Given the description of an element on the screen output the (x, y) to click on. 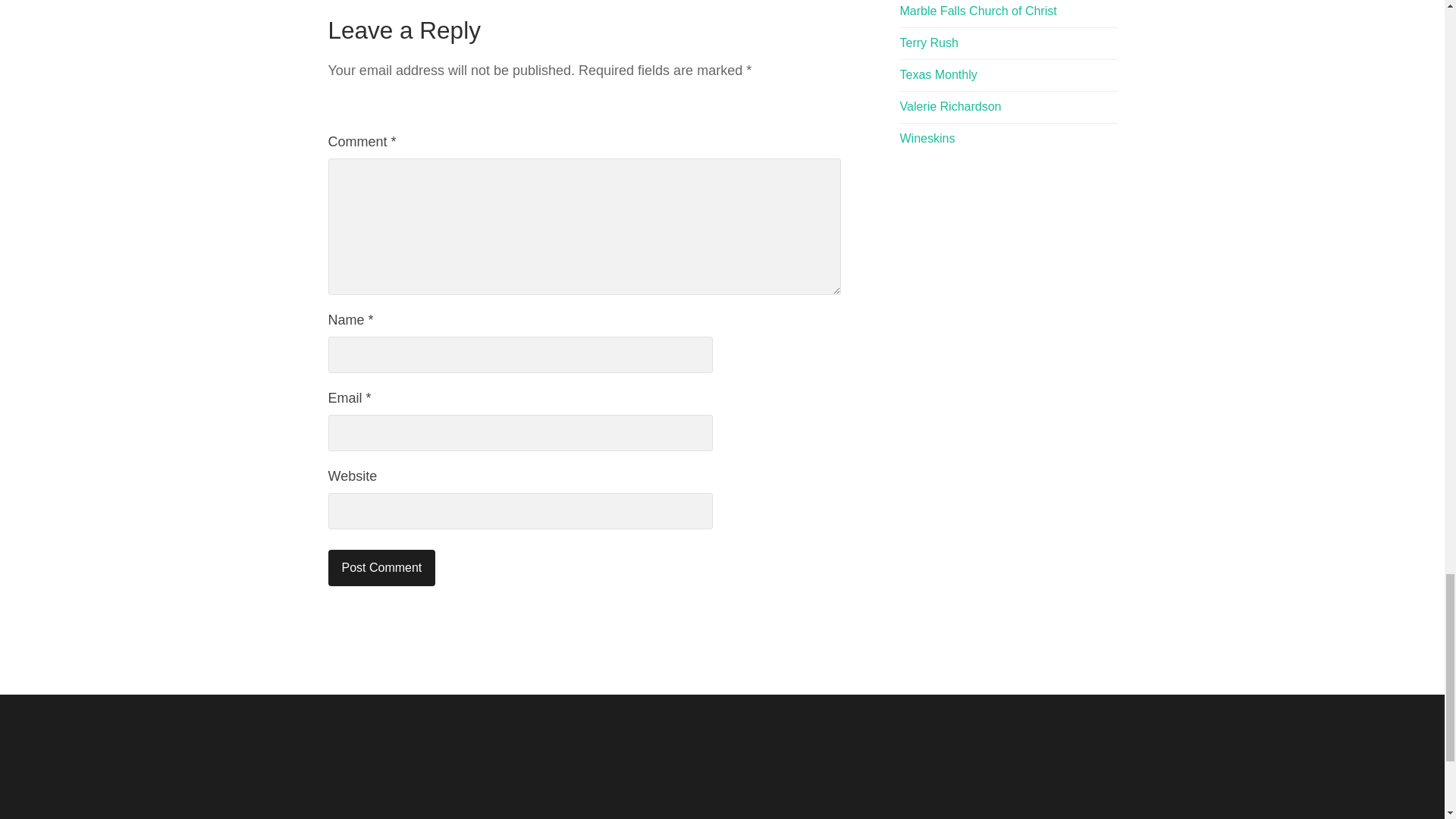
Marble Falls Church of Christ in the Texas Hill Country (978, 10)
Exploring the Heart of Restoration (927, 137)
The National Magazine of Texas (937, 74)
Post Comment (381, 567)
Post Comment (381, 567)
The Kitchen Sink (950, 106)
Morning Rush (928, 42)
